Given the description of an element on the screen output the (x, y) to click on. 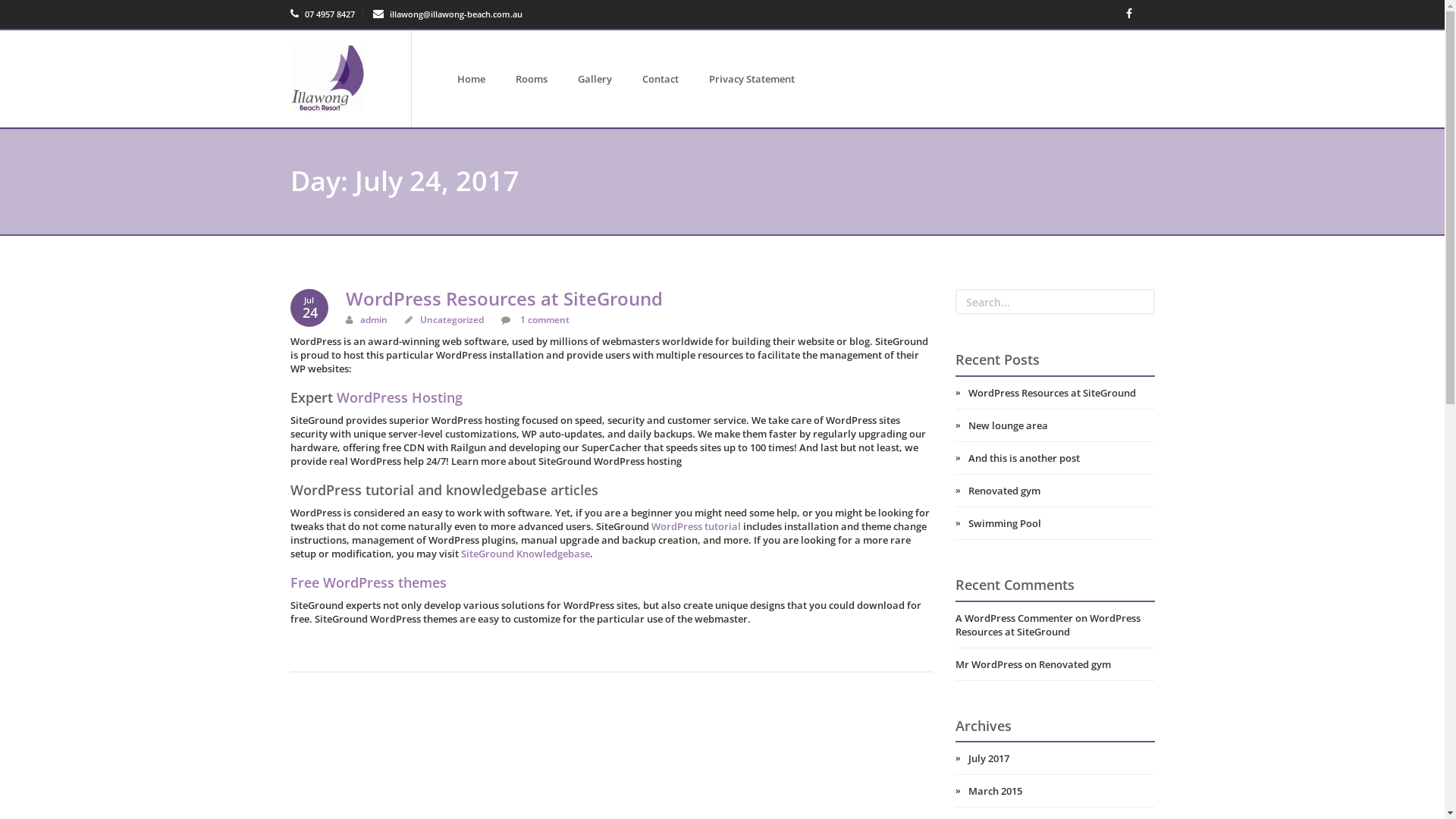
Uncategorized Element type: text (451, 319)
Privacy Statement Element type: text (751, 78)
07 4957 8427 Element type: text (321, 13)
Renovated gym Element type: text (1074, 664)
Rooms Element type: text (531, 78)
WordPress Resources at SiteGround Element type: text (503, 297)
Free WordPress themes Element type: text (367, 582)
illawong@illawong-beach.com.au Element type: text (447, 13)
And this is another post Element type: text (1054, 457)
Swimming Pool Element type: text (1054, 523)
Renovated gym Element type: text (1054, 490)
A WordPress Commenter Element type: text (1014, 617)
WordPress Resources at SiteGround Element type: text (1047, 624)
Home Element type: text (471, 78)
1 comment Element type: text (543, 319)
Gallery Element type: text (594, 78)
New lounge area Element type: text (1054, 425)
WordPress Resources at SiteGround Element type: text (1054, 392)
WordPress tutorial Element type: text (695, 526)
March 2015 Element type: text (1054, 790)
admin Element type: text (373, 319)
Mr WordPress Element type: text (988, 664)
Contact Element type: text (660, 78)
SiteGround Knowledgebase Element type: text (525, 553)
July 2017 Element type: text (1054, 758)
WordPress Hosting Element type: text (399, 397)
